Given the description of an element on the screen output the (x, y) to click on. 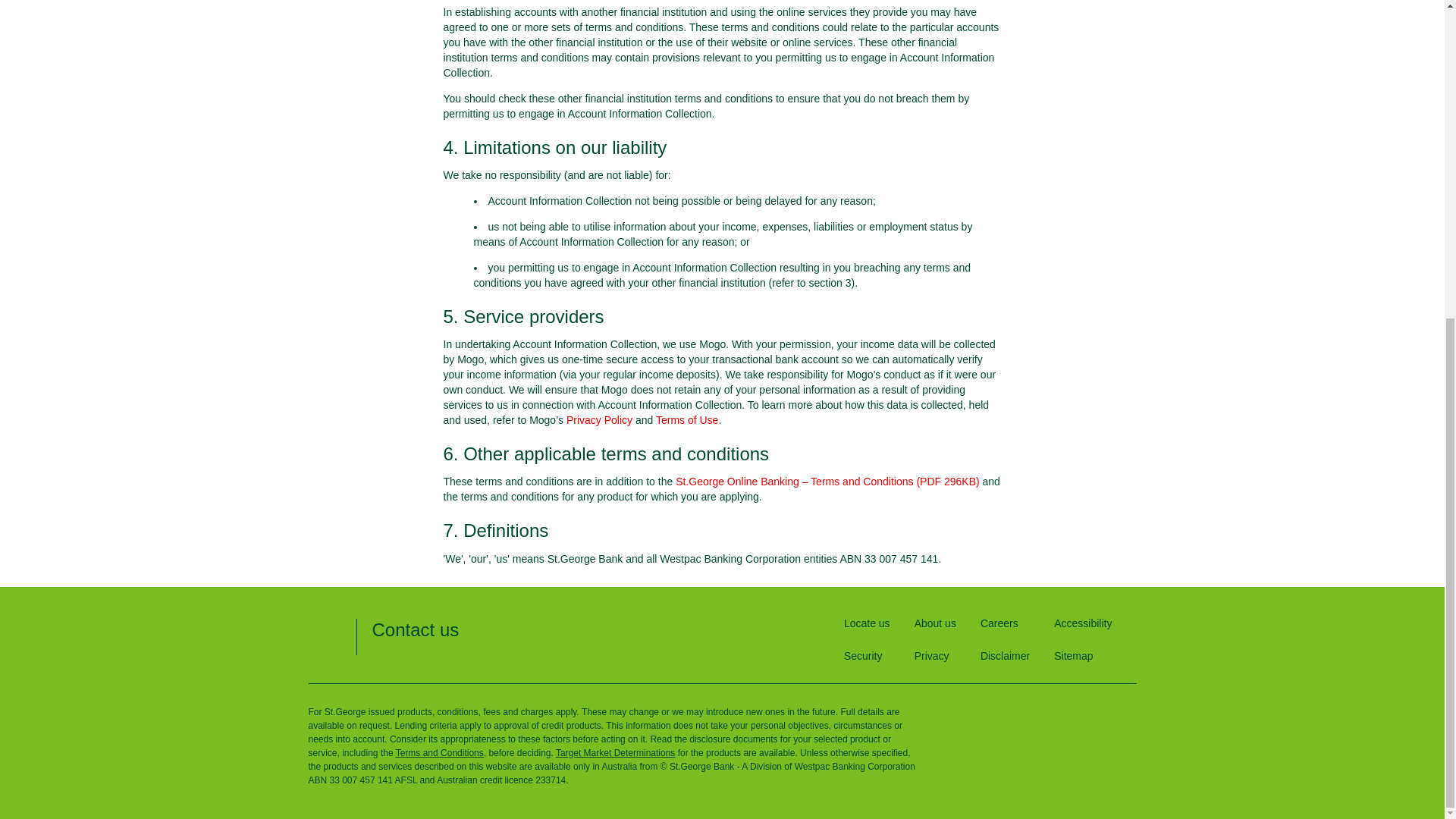
Follow us on YouTube, Opens in new tab (1123, 708)
Follow us on Twitter, Opens in new tab (1054, 708)
Follow us on Linkedin, Opens in new tab (1089, 708)
Follow us on Facebook, Opens in new tab (1019, 708)
